Given the description of an element on the screen output the (x, y) to click on. 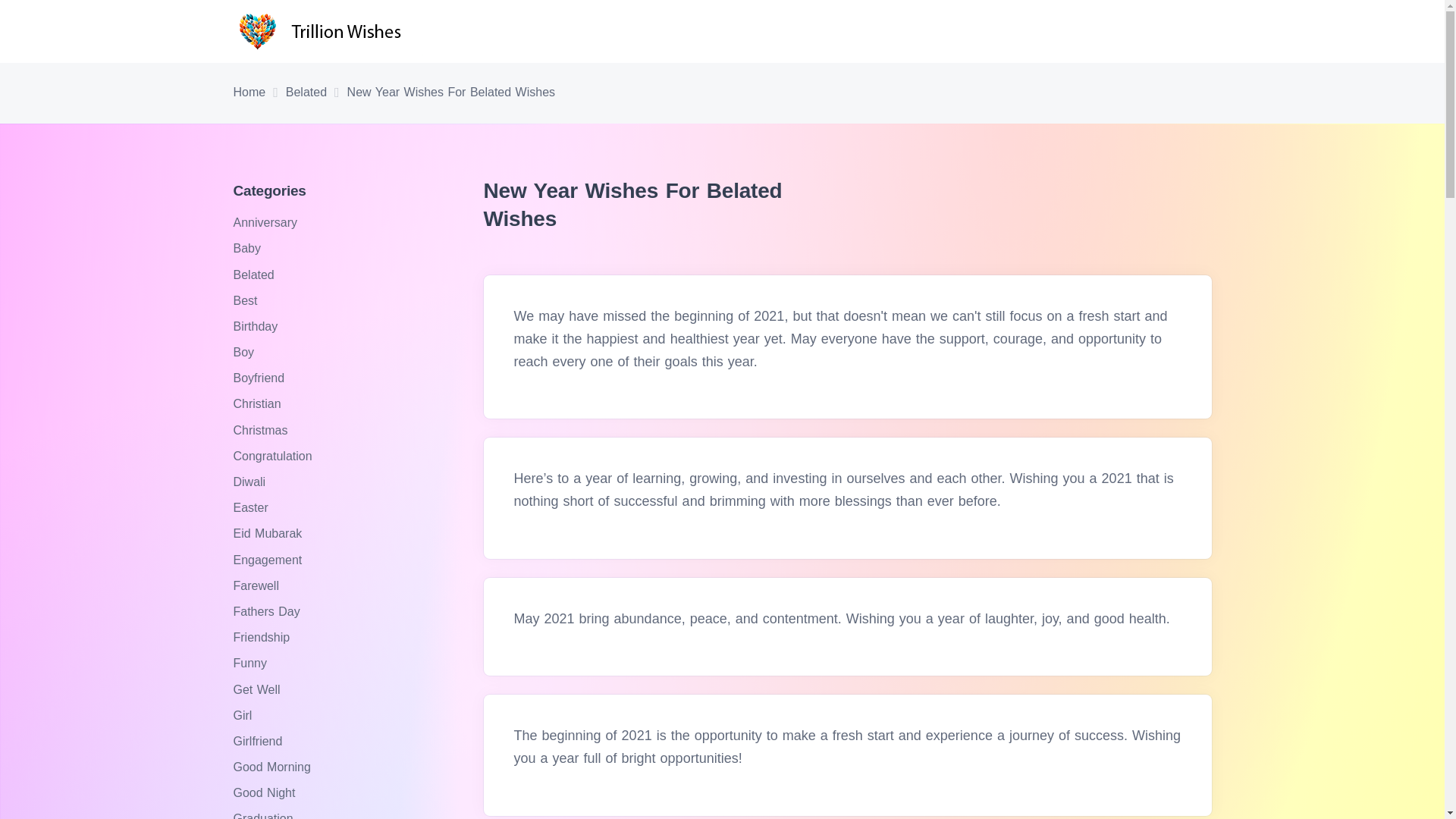
Girlfriend (259, 740)
Funny (251, 662)
Fathers Day (268, 611)
Good Night (265, 792)
Belated (305, 92)
Girl (244, 715)
Christmas (262, 430)
Home (249, 92)
Easter (252, 507)
Christian (258, 403)
